Given the description of an element on the screen output the (x, y) to click on. 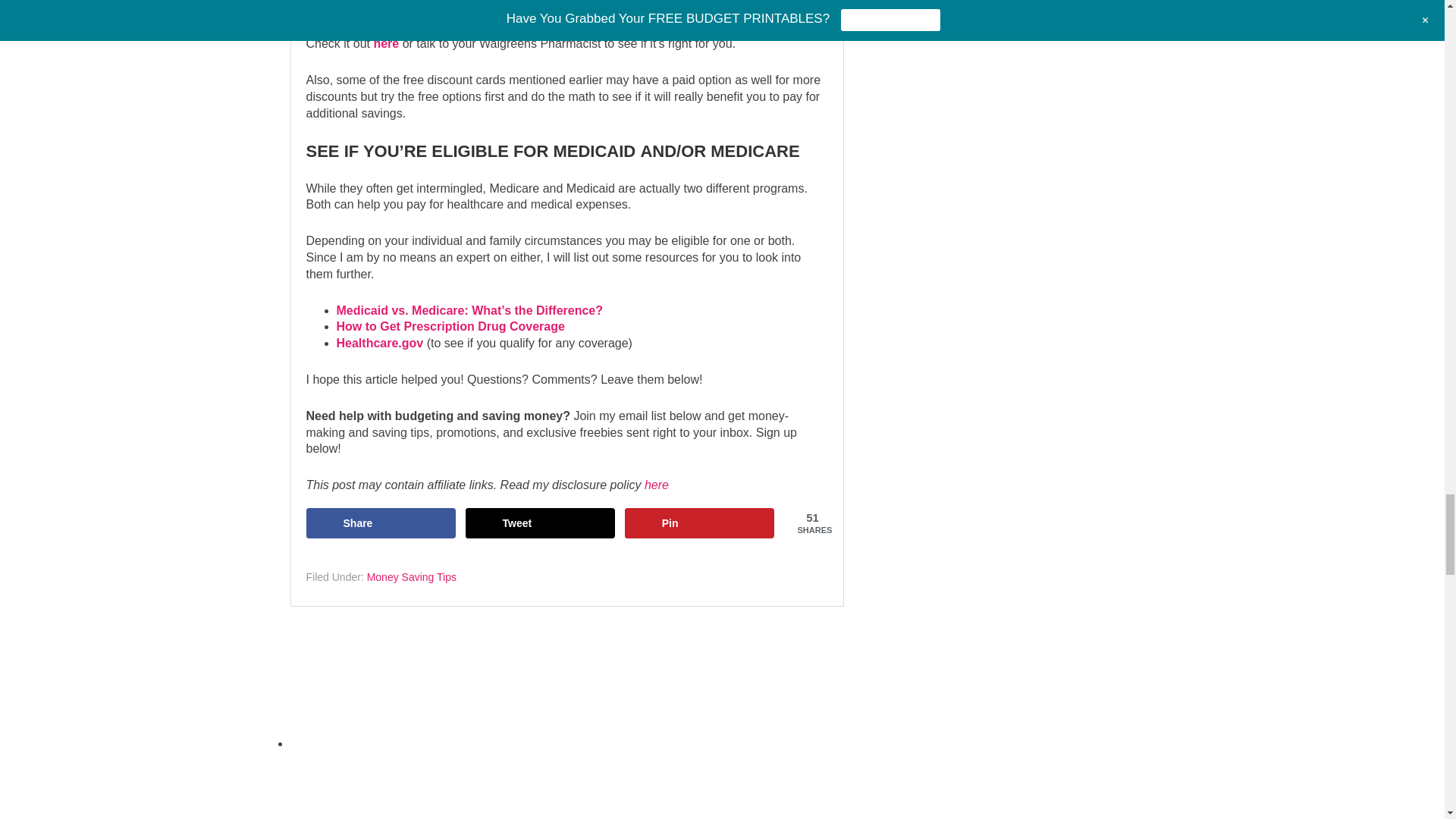
Share on Facebook (381, 522)
Share on X (540, 522)
Save to Pinterest (699, 522)
